Given the description of an element on the screen output the (x, y) to click on. 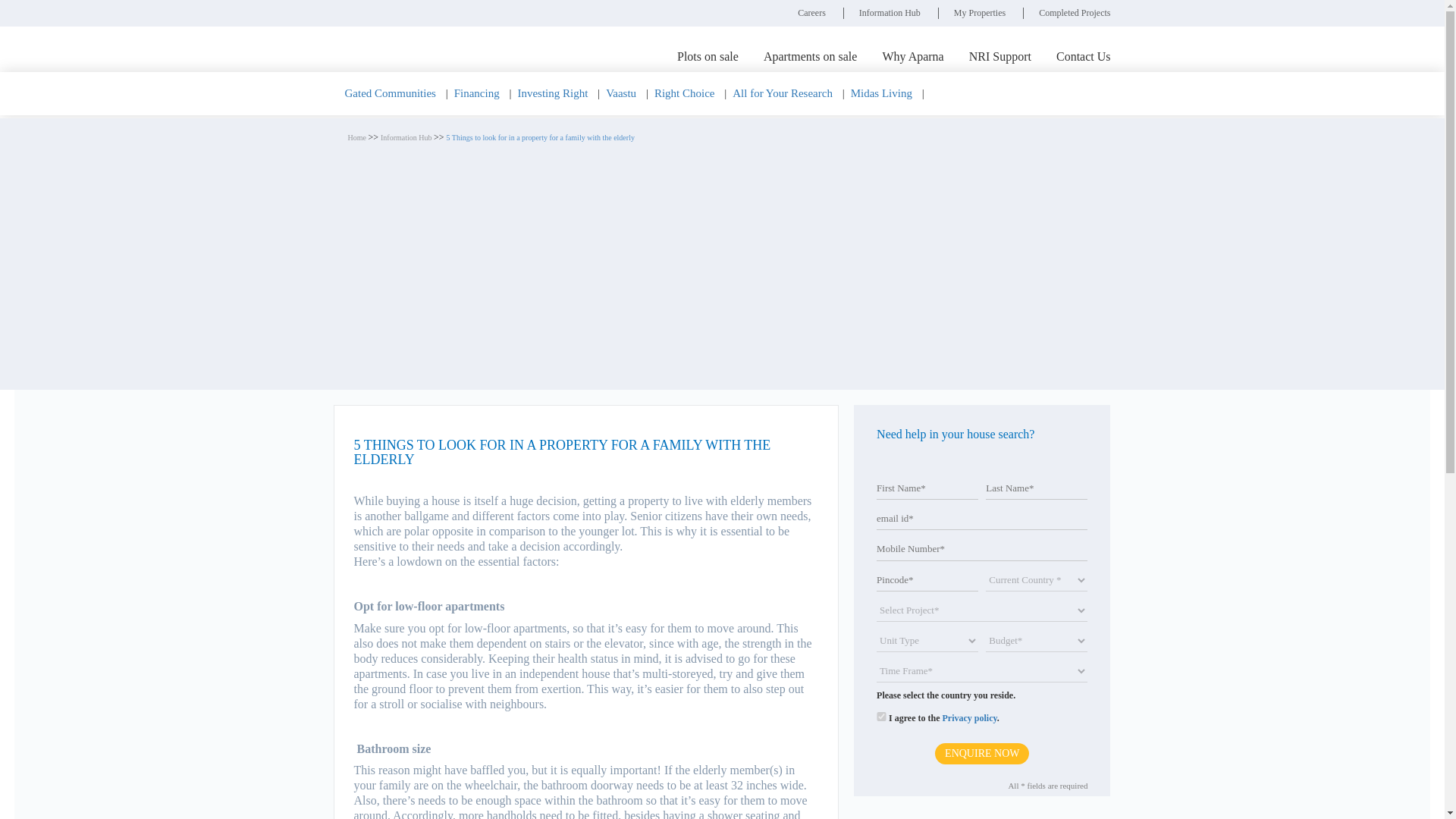
NRI Support (999, 56)
My Properties (979, 12)
Midas Living (881, 92)
Enquire Now (981, 753)
All for Your Research (782, 92)
Careers (811, 12)
Privacy policy (969, 717)
Completed Projects (1074, 12)
Home (357, 137)
